Given the description of an element on the screen output the (x, y) to click on. 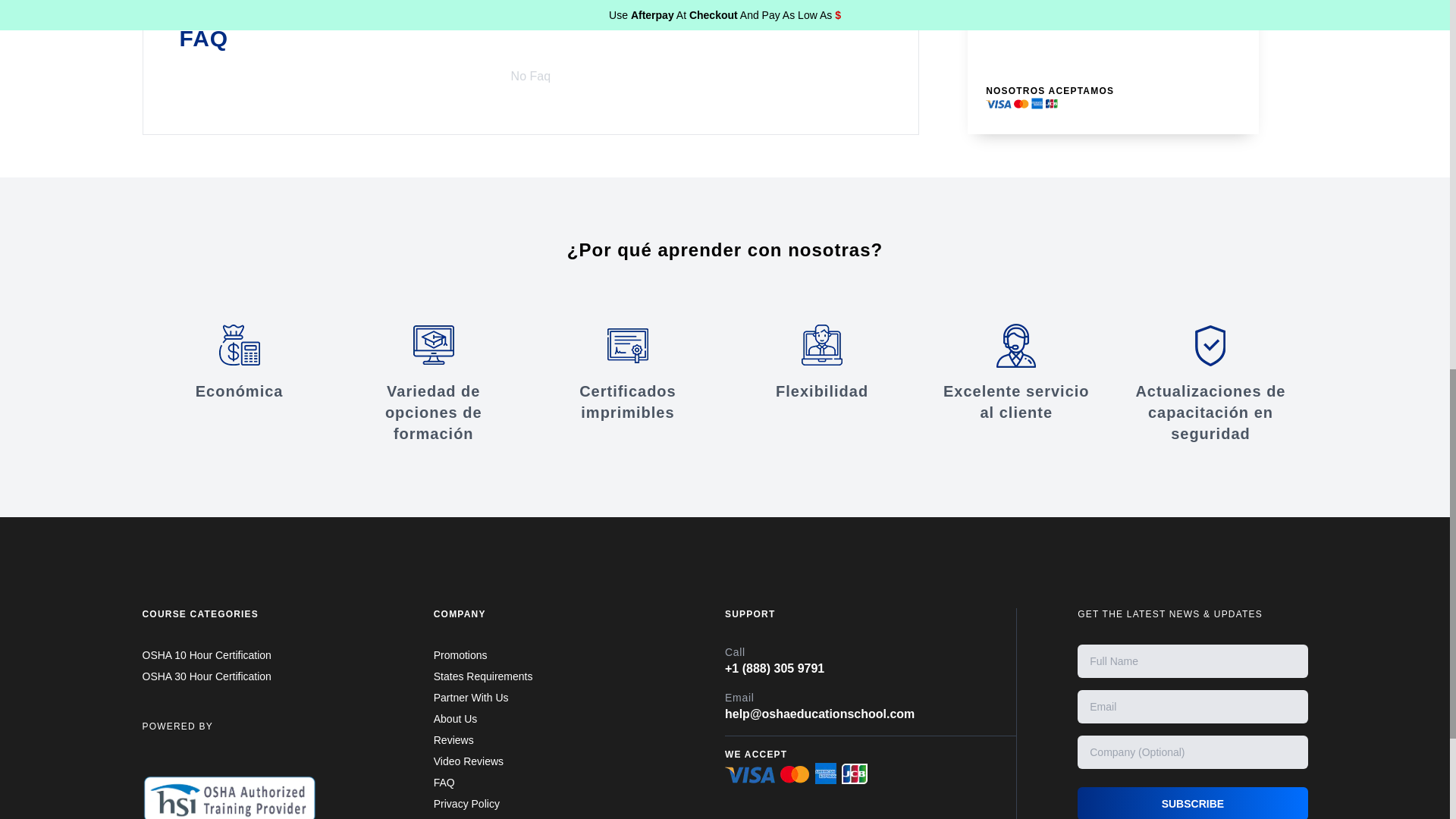
Excelente servicio al cliente (1015, 372)
Flexibilidad (821, 362)
Certificados imprimibles (627, 372)
